Given the description of an element on the screen output the (x, y) to click on. 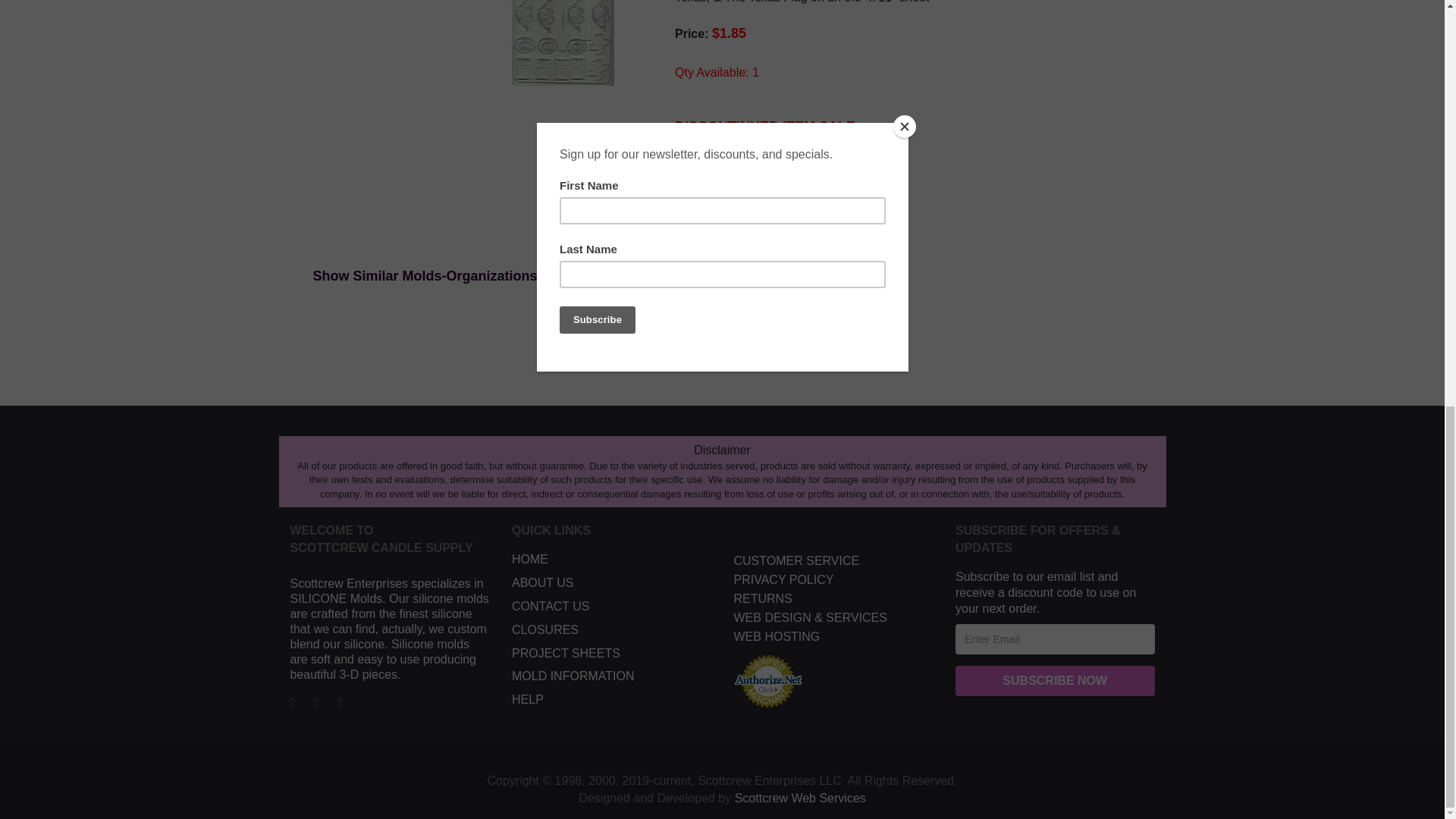
Add To Cart (762, 217)
1 (692, 223)
